Given the description of an element on the screen output the (x, y) to click on. 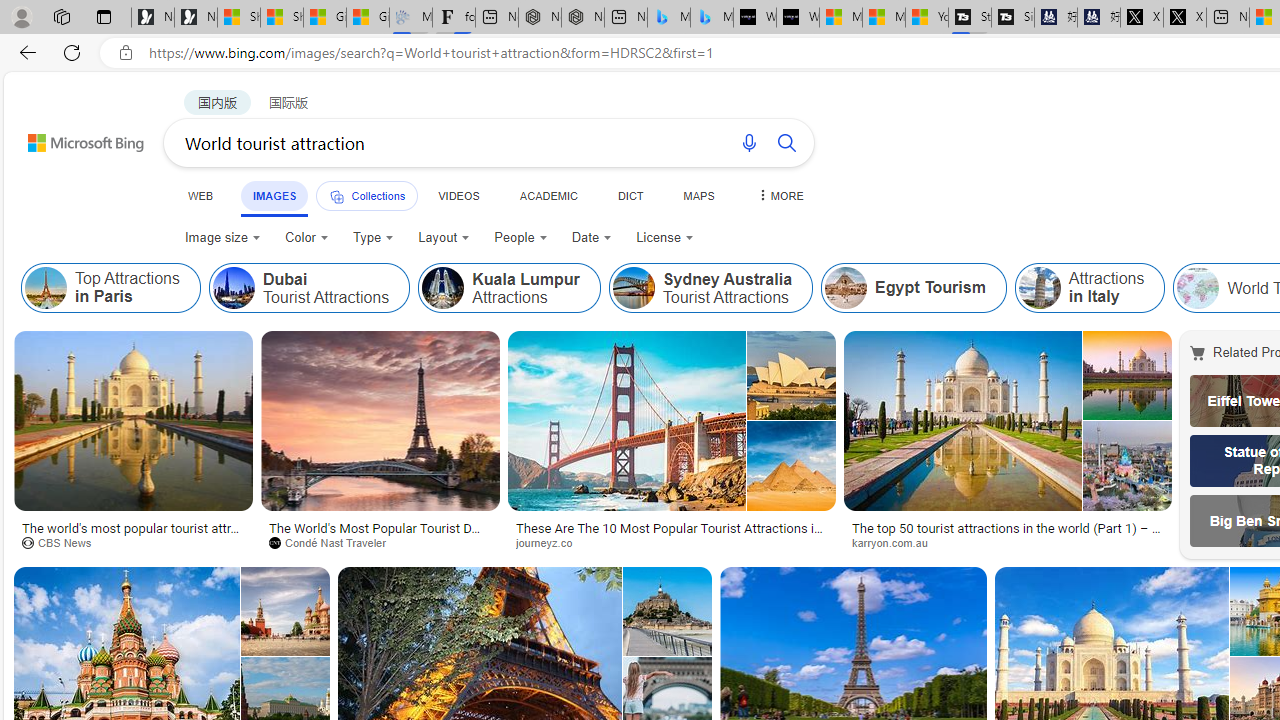
Back to Bing search (73, 138)
VIDEOS (458, 195)
MAPS (698, 195)
Egypt Tourism (913, 287)
DICT (630, 195)
